Given the description of an element on the screen output the (x, y) to click on. 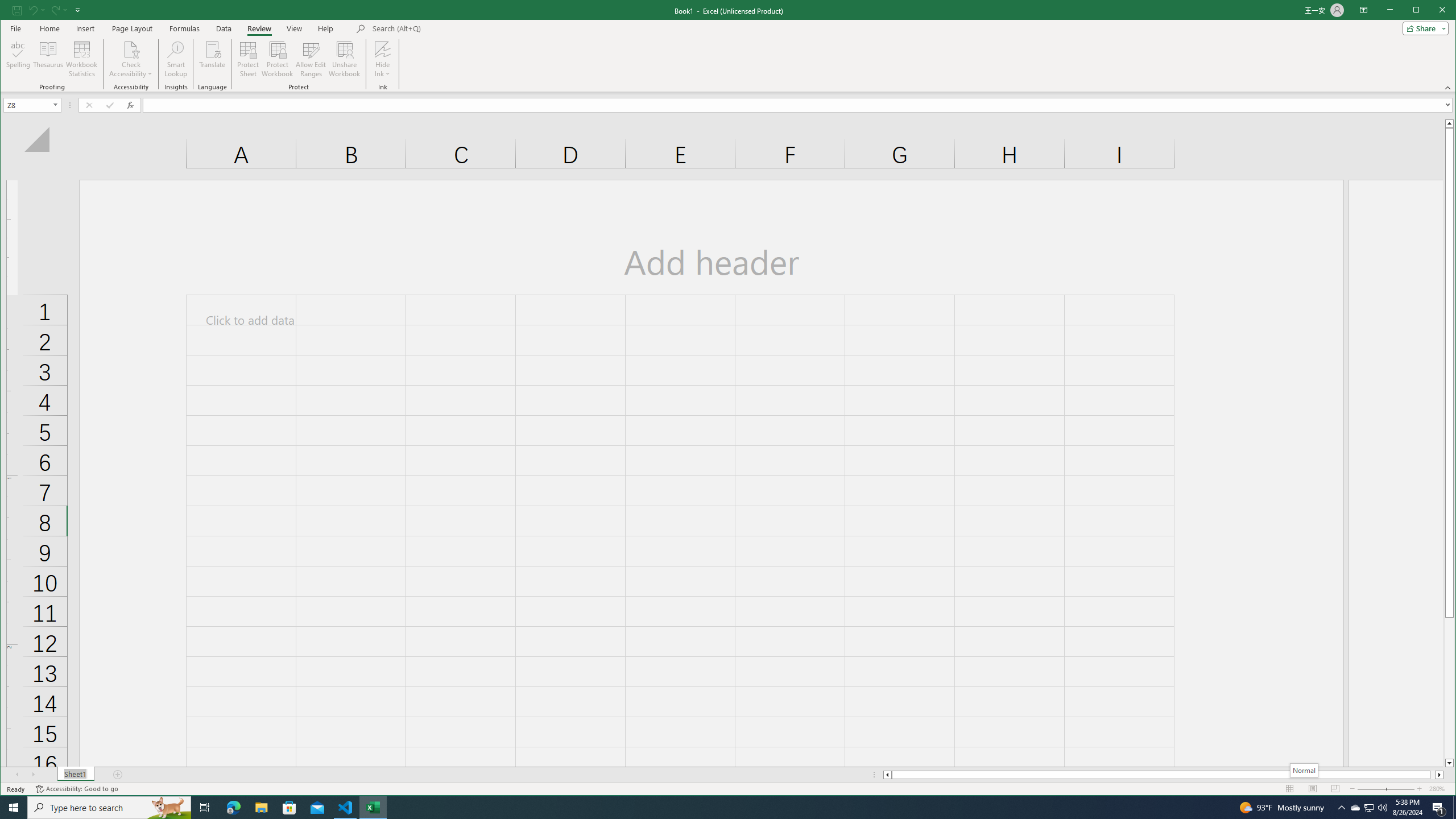
Unshare Workbook (344, 59)
Customize Quick Access Toolbar (77, 9)
Zoom (1384, 788)
Q2790: 100% (1382, 807)
Formula Bar (799, 104)
Accessibility Checker Accessibility: Good to go (76, 788)
Quick Access Toolbar (46, 9)
Column right (1439, 774)
Review (259, 28)
Sheet Tab (75, 774)
